Given the description of an element on the screen output the (x, y) to click on. 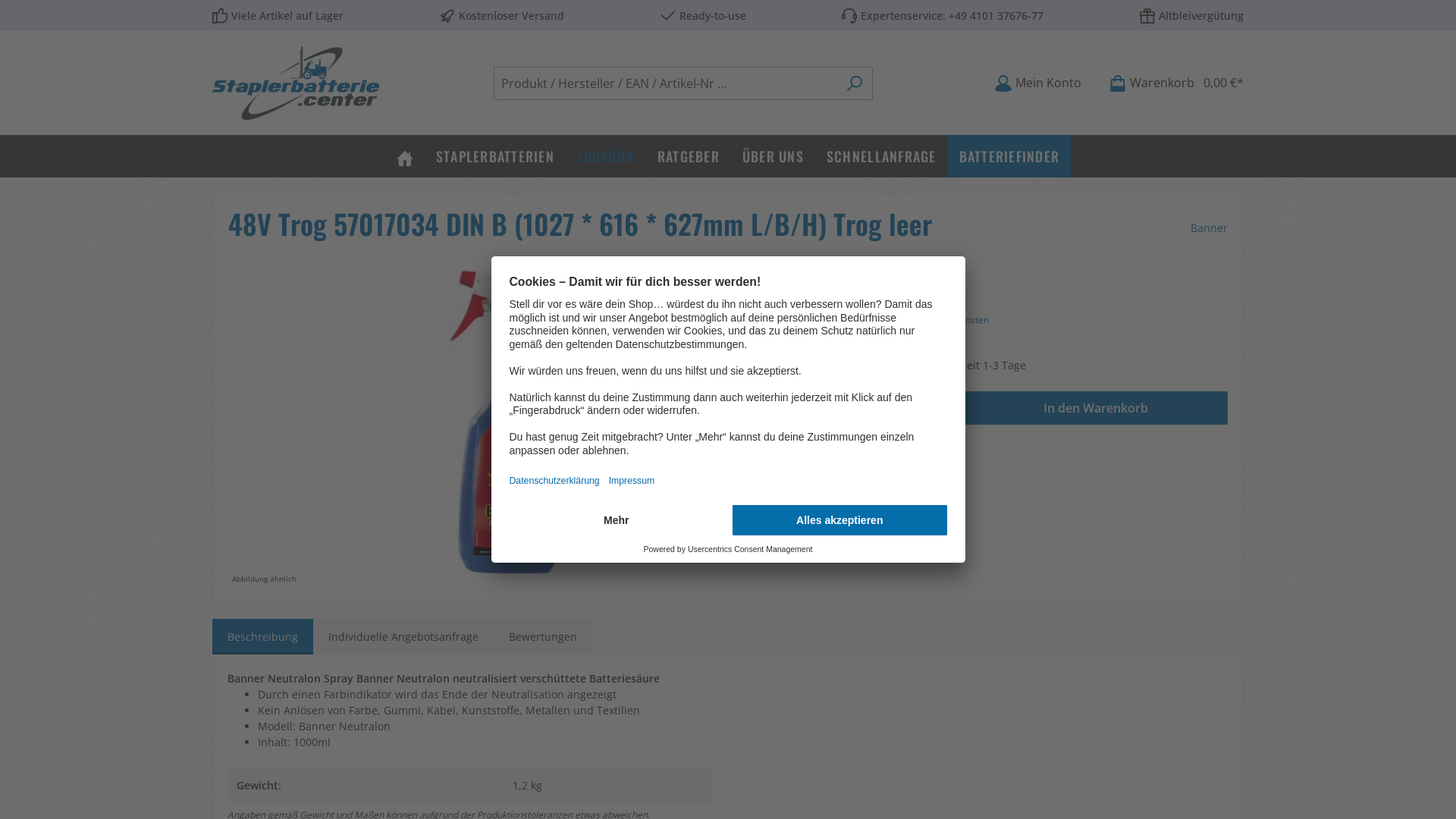
BATTERIEFINDER Element type: text (1009, 155)
Mein Konto Element type: text (1037, 82)
Beschreibung Element type: text (262, 636)
Zur Startseite wechseln Element type: hover (295, 82)
Home Element type: hover (404, 155)
Preise exkl. MwSt. inkl. Versandkosten Element type: text (908, 319)
Bewertungen Element type: text (542, 636)
48V Trog 57017034 DIN B (1027 * 616 * 627mm L/B/H) Trog leer Element type: hover (512, 424)
Banner Element type: text (1208, 226)
SCHNELLANFRAGE Element type: text (881, 155)
+49 4101 37676-77 Element type: text (995, 14)
In den Warenkorb Element type: text (1095, 407)
Individuelle Angebotsanfrage Element type: text (403, 636)
STAPLERBATTERIEN Element type: text (494, 155)
RATGEBER Element type: text (688, 155)
